Given the description of an element on the screen output the (x, y) to click on. 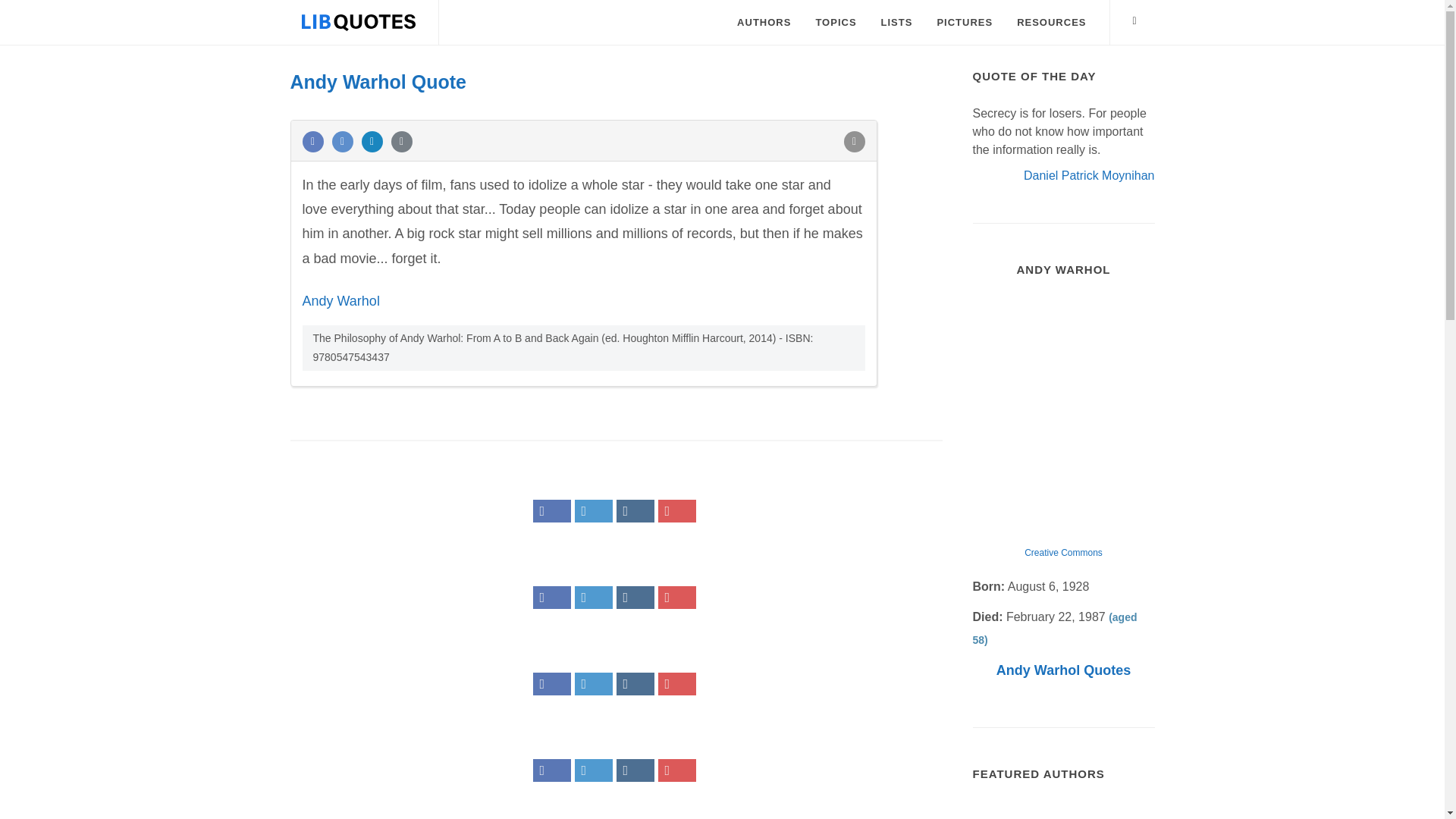
TOPICS (835, 22)
RESOURCES (1051, 22)
Marie Antoinette (1063, 812)
Jules Verne (1002, 812)
Creative Commons (1063, 552)
Andy Warhol (339, 300)
LISTS (896, 22)
AUTHORS (763, 22)
Charles Darwin (1124, 812)
Daniel Patrick Moynihan (1088, 174)
Andy Warhol Quotes (1063, 670)
PICTURES (964, 22)
